Given the description of an element on the screen output the (x, y) to click on. 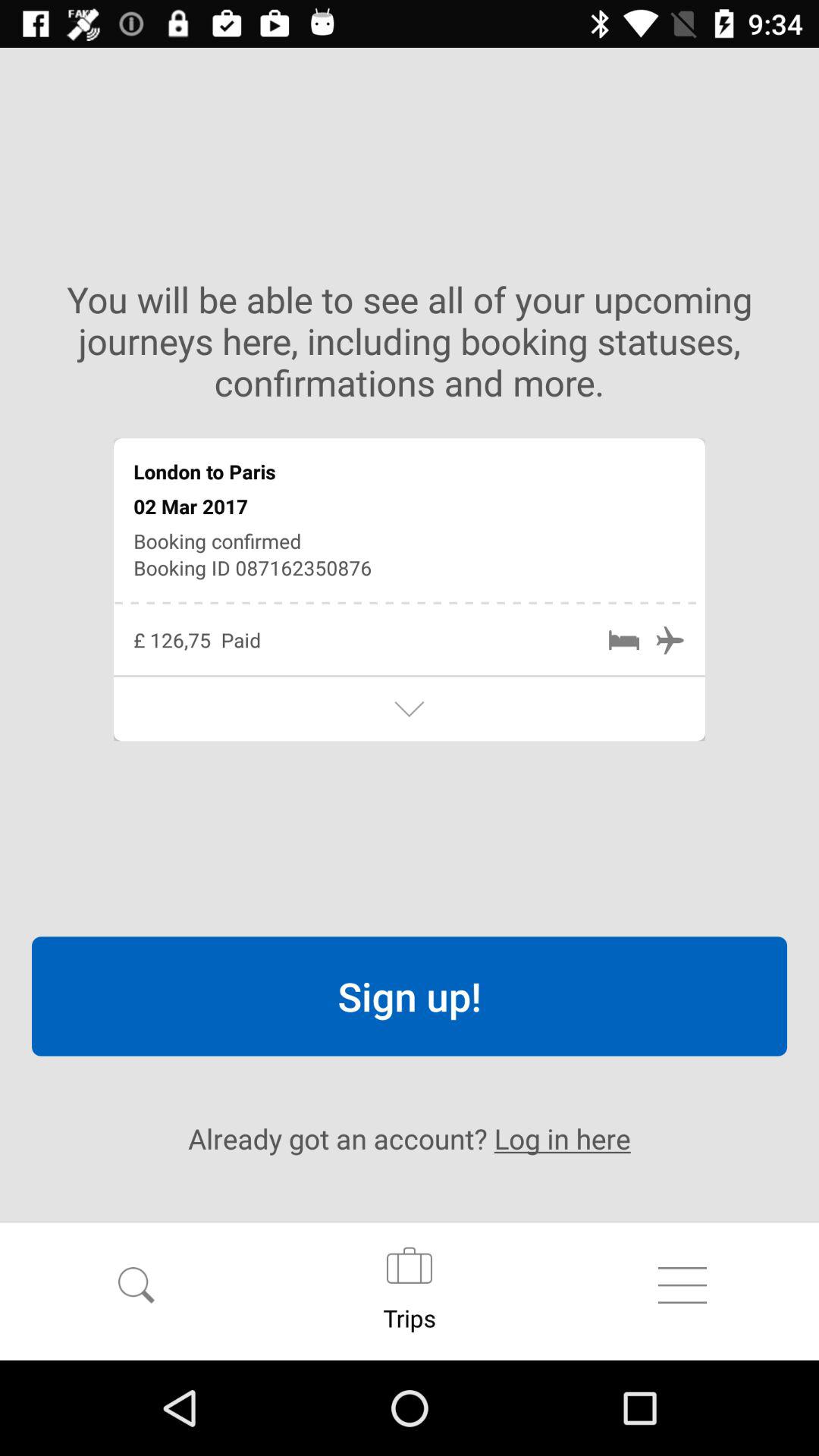
choose the already got an icon (409, 1138)
